Given the description of an element on the screen output the (x, y) to click on. 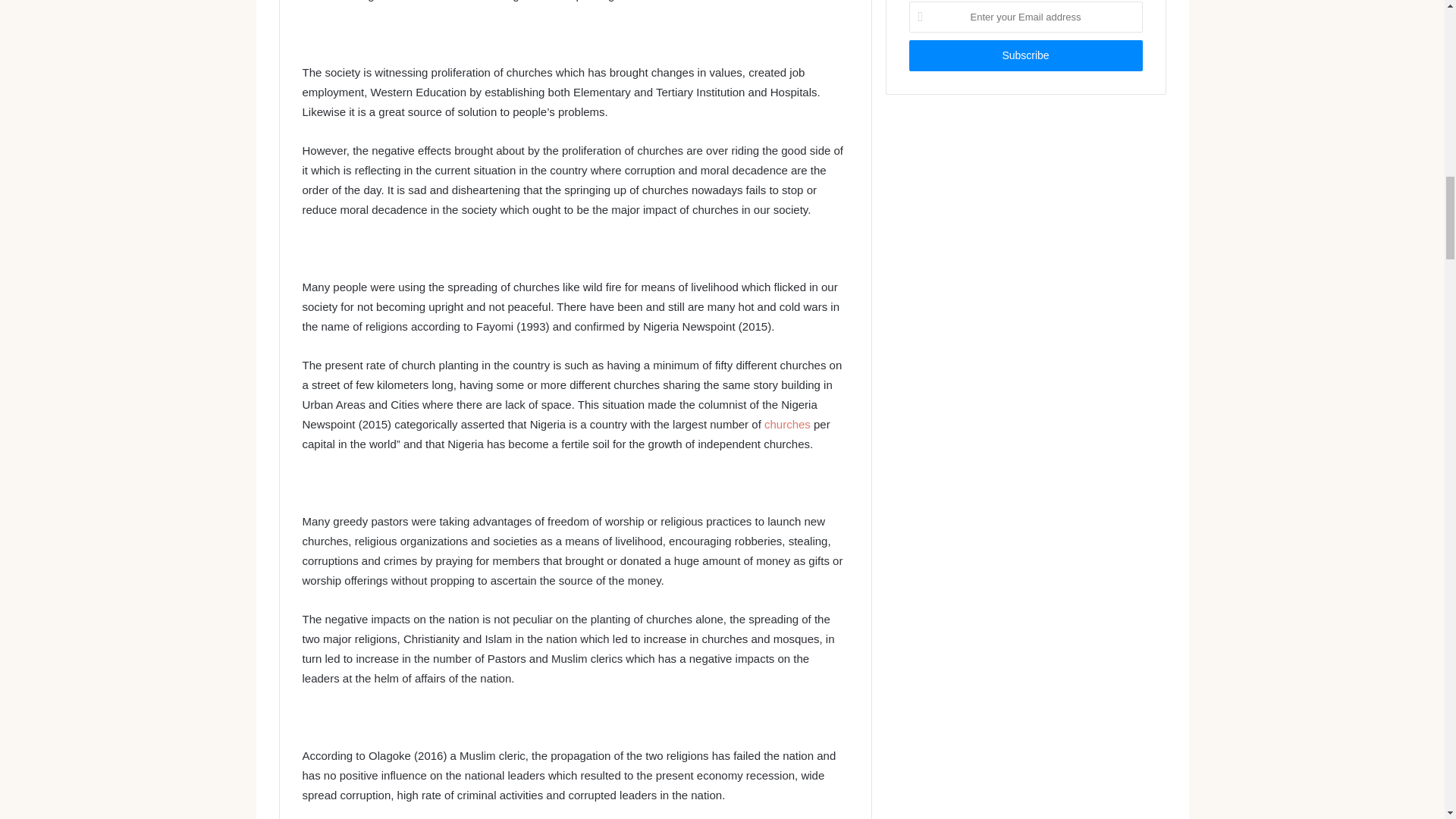
Subscribe (1025, 55)
churches (787, 423)
